Given the description of an element on the screen output the (x, y) to click on. 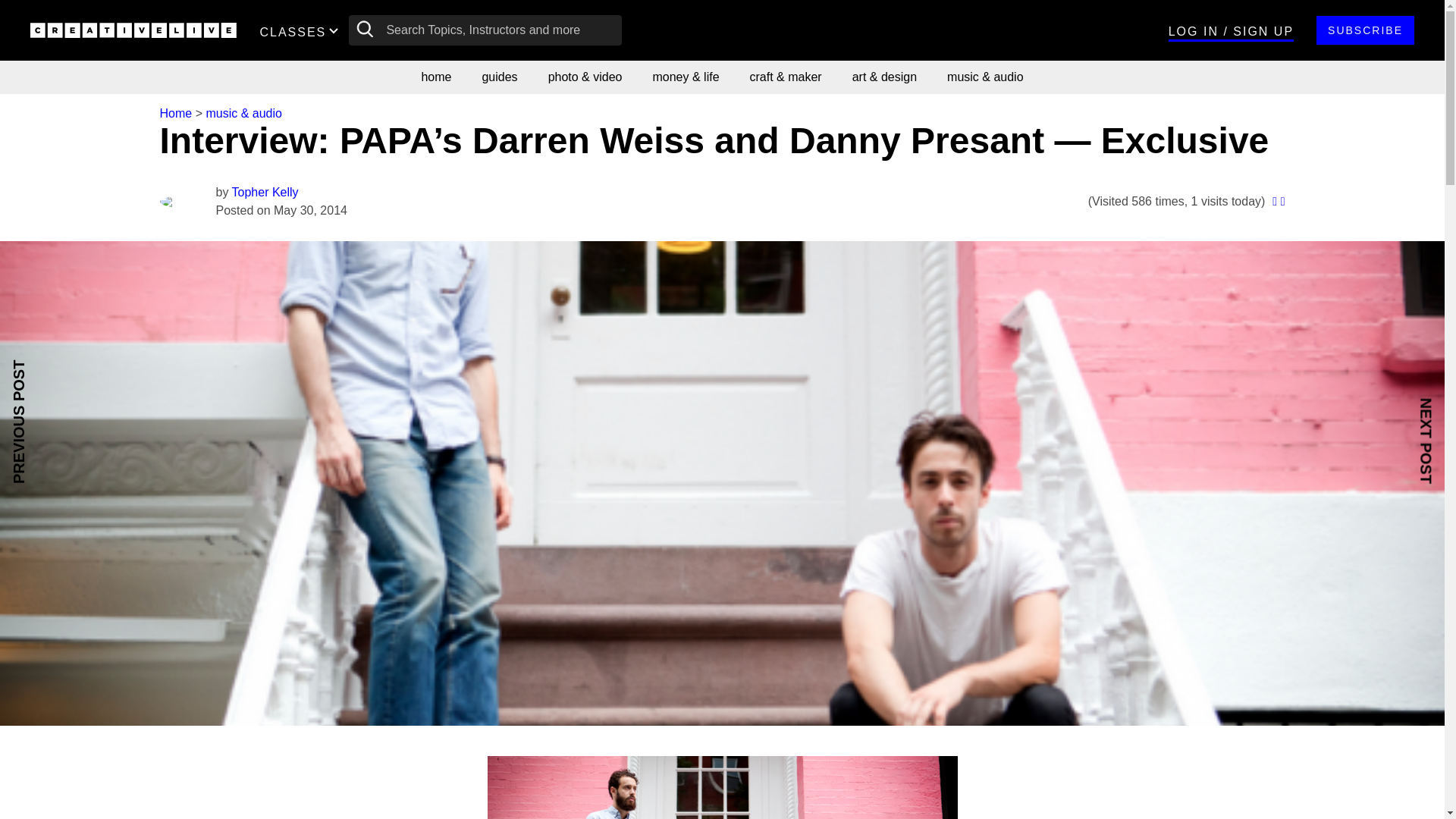
CLASSES (302, 30)
